Given the description of an element on the screen output the (x, y) to click on. 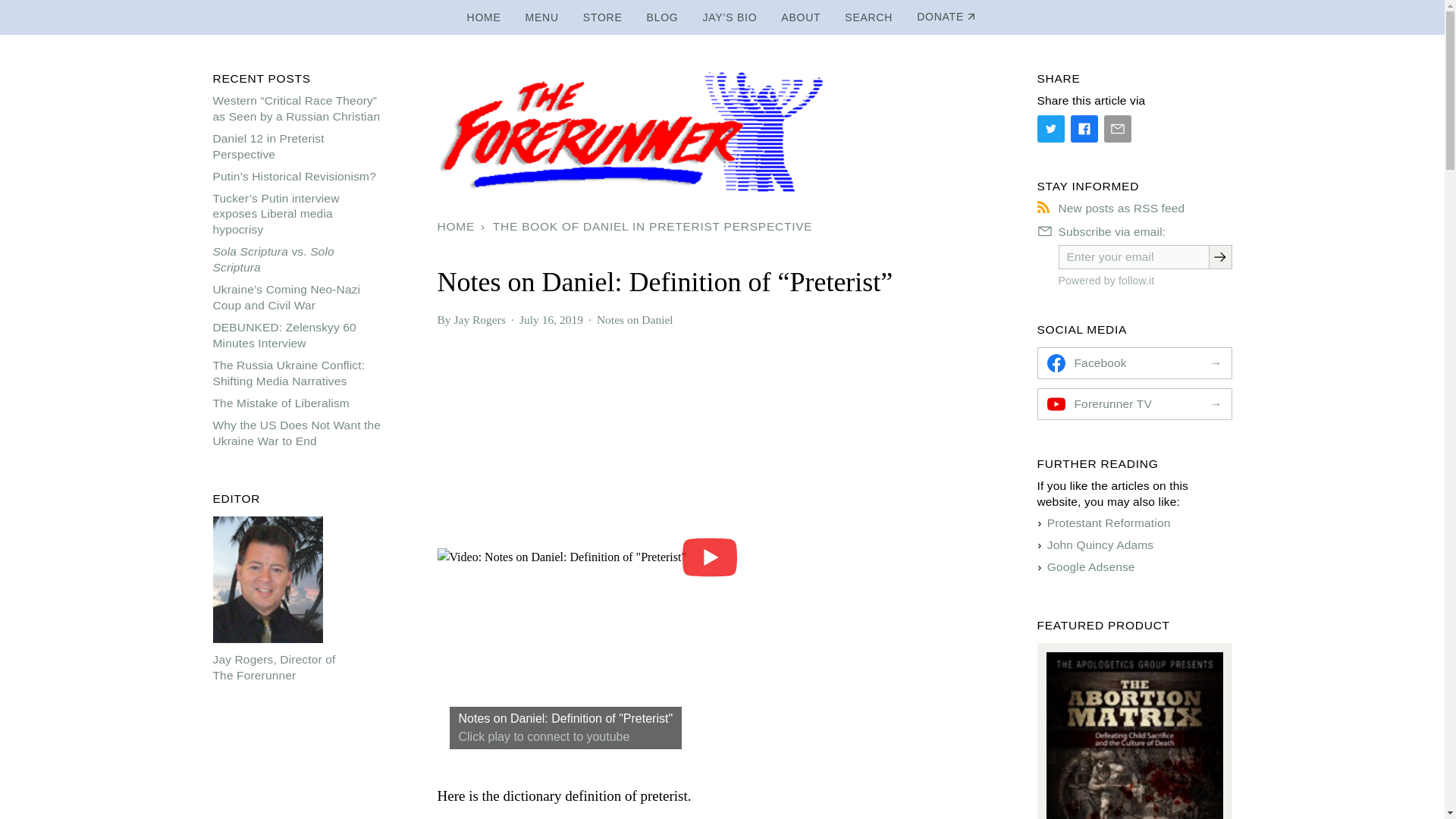
Notes on Daniel (634, 318)
HOME (458, 226)
ABOUT (800, 17)
Search this site (868, 17)
All articles by Jay Rogers (478, 318)
DONATE (947, 17)
Books and DVDs (602, 17)
Donate via PayPal (947, 17)
About us (800, 17)
The Forerunner Weblog (662, 17)
HOME (483, 17)
2019 (571, 318)
STORE (602, 17)
Jay Rogers (478, 318)
THE BOOK OF DANIEL IN PRETERIST PERSPECTIVE (652, 226)
